Given the description of an element on the screen output the (x, y) to click on. 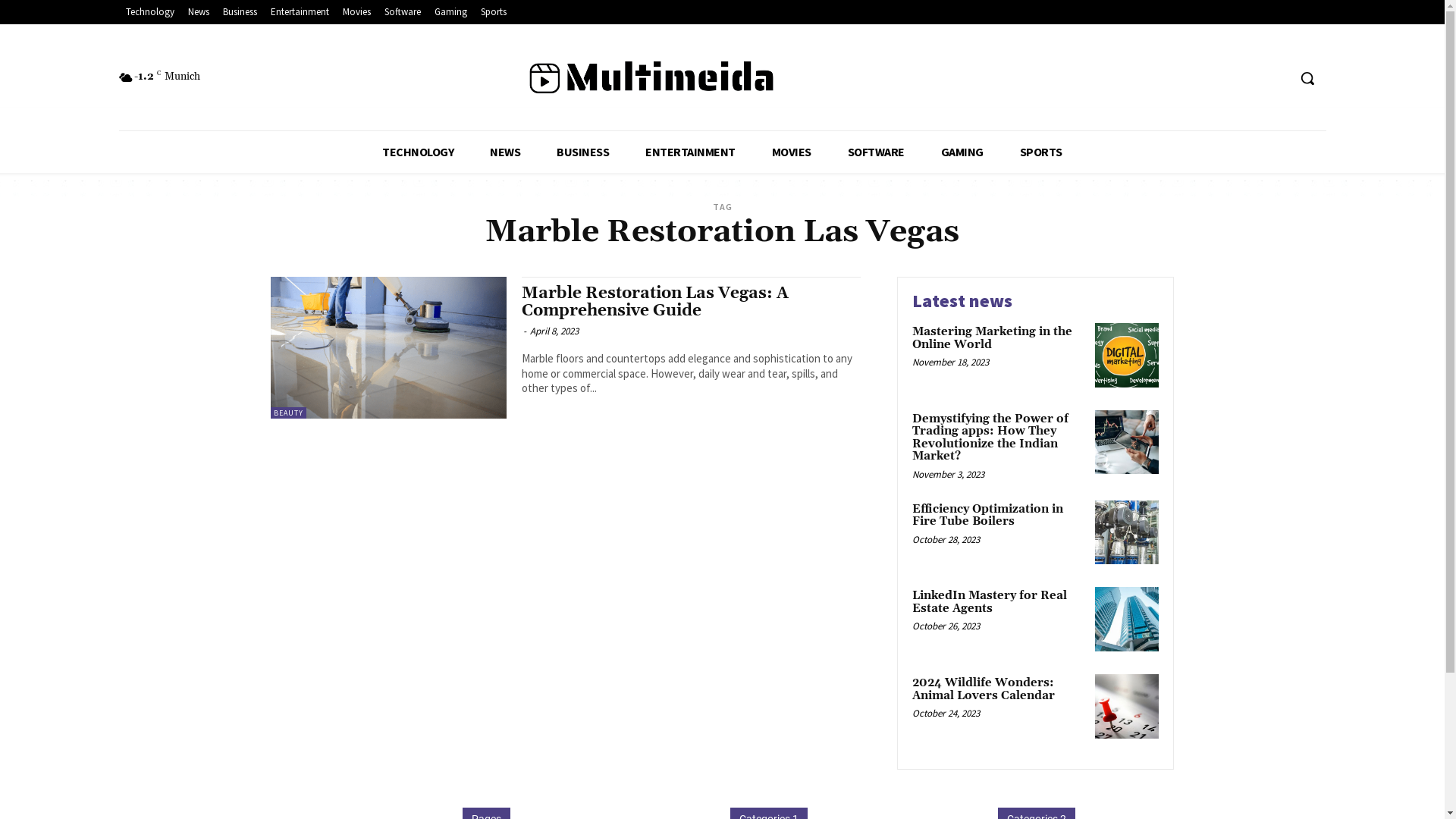
LinkedIn Mastery for Real Estate Agents Element type: text (989, 601)
Software Element type: text (402, 11)
Technology Element type: text (149, 11)
MOVIES Element type: text (791, 151)
News Element type: text (197, 11)
Gaming Element type: text (450, 11)
Entertainment Element type: text (299, 11)
Mastering Marketing in the Online World Element type: text (992, 337)
Business Element type: text (239, 11)
Marble Restoration Las Vegas: A Comprehensive Guide Element type: hover (387, 347)
TECHNOLOGY Element type: text (417, 151)
2024 Wildlife Wonders: Animal Lovers Calendar Element type: hover (1127, 706)
BEAUTY Element type: text (287, 412)
Sports Element type: text (492, 11)
LinkedIn Mastery for Real Estate Agents Element type: hover (1127, 618)
Efficiency Optimization in Fire Tube Boilers Element type: hover (1127, 532)
GAMING Element type: text (961, 151)
Marble Restoration Las Vegas: A Comprehensive Guide Element type: text (654, 301)
BUSINESS Element type: text (582, 151)
Mastering Marketing in the Online World Element type: hover (1127, 355)
ENTERTAINMENT Element type: text (690, 151)
Efficiency Optimization in Fire Tube Boilers Element type: text (987, 515)
Movies Element type: text (355, 11)
SOFTWARE Element type: text (875, 151)
SPORTS Element type: text (1040, 151)
2024 Wildlife Wonders: Animal Lovers Calendar Element type: text (983, 688)
NEWS Element type: text (504, 151)
